Given the description of an element on the screen output the (x, y) to click on. 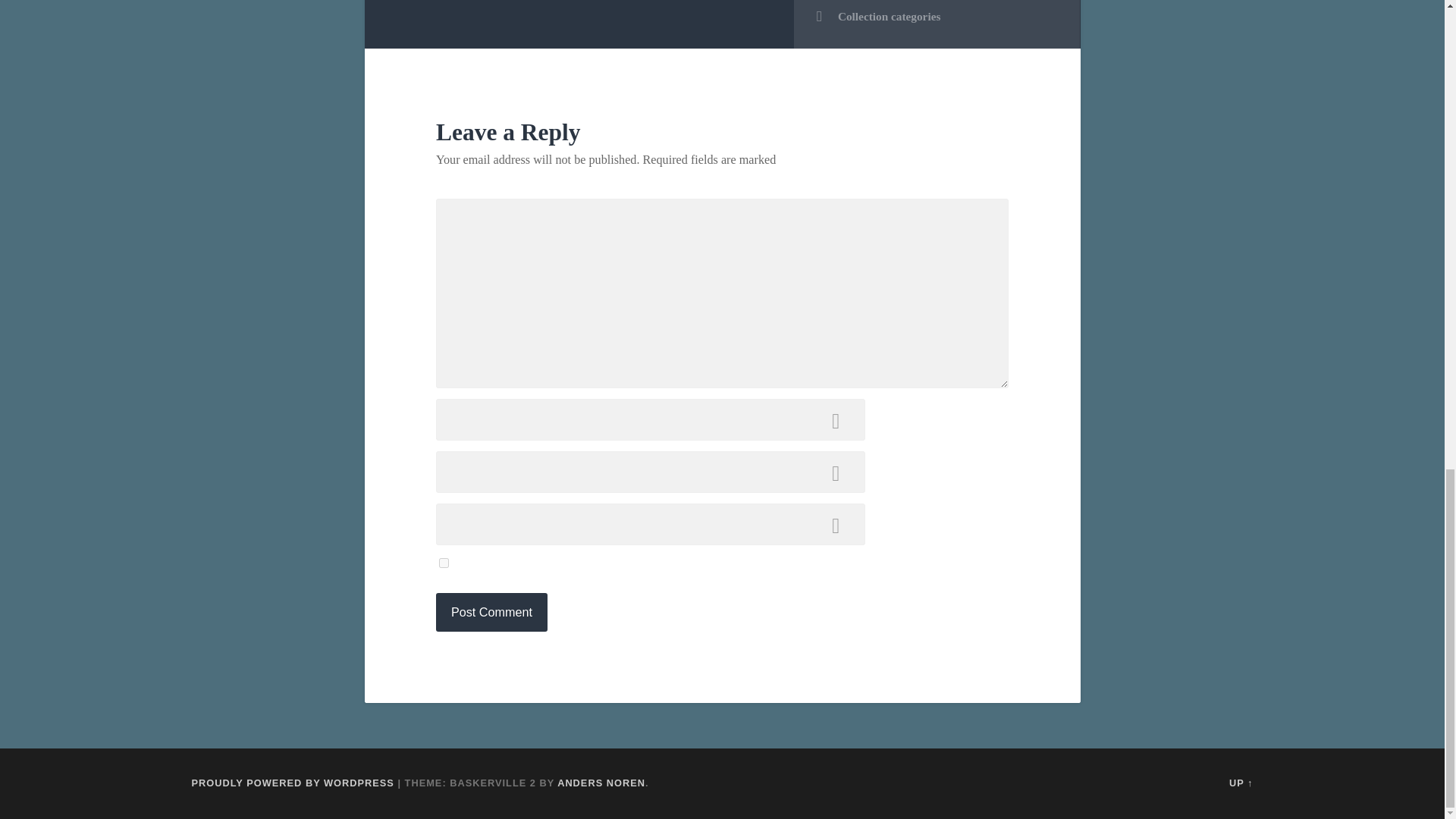
Collection categories (937, 16)
yes (443, 562)
To the top (1240, 782)
Post Comment (491, 611)
